Given the description of an element on the screen output the (x, y) to click on. 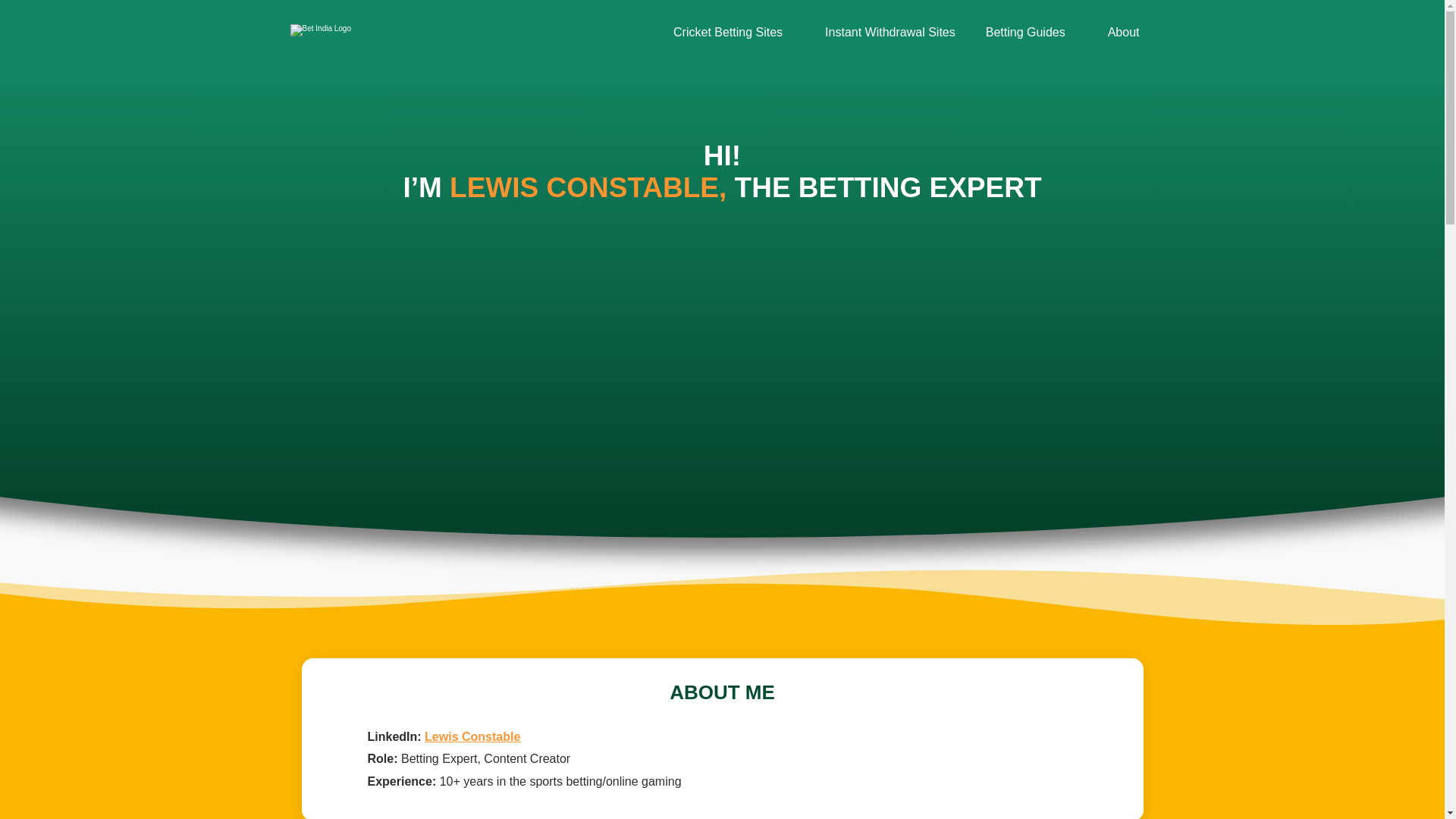
Betting Guides (1025, 32)
Instant Withdrawal Sites (890, 32)
About (1123, 32)
Cricket Betting Sites (727, 32)
Lewis Constable (472, 736)
